Given the description of an element on the screen output the (x, y) to click on. 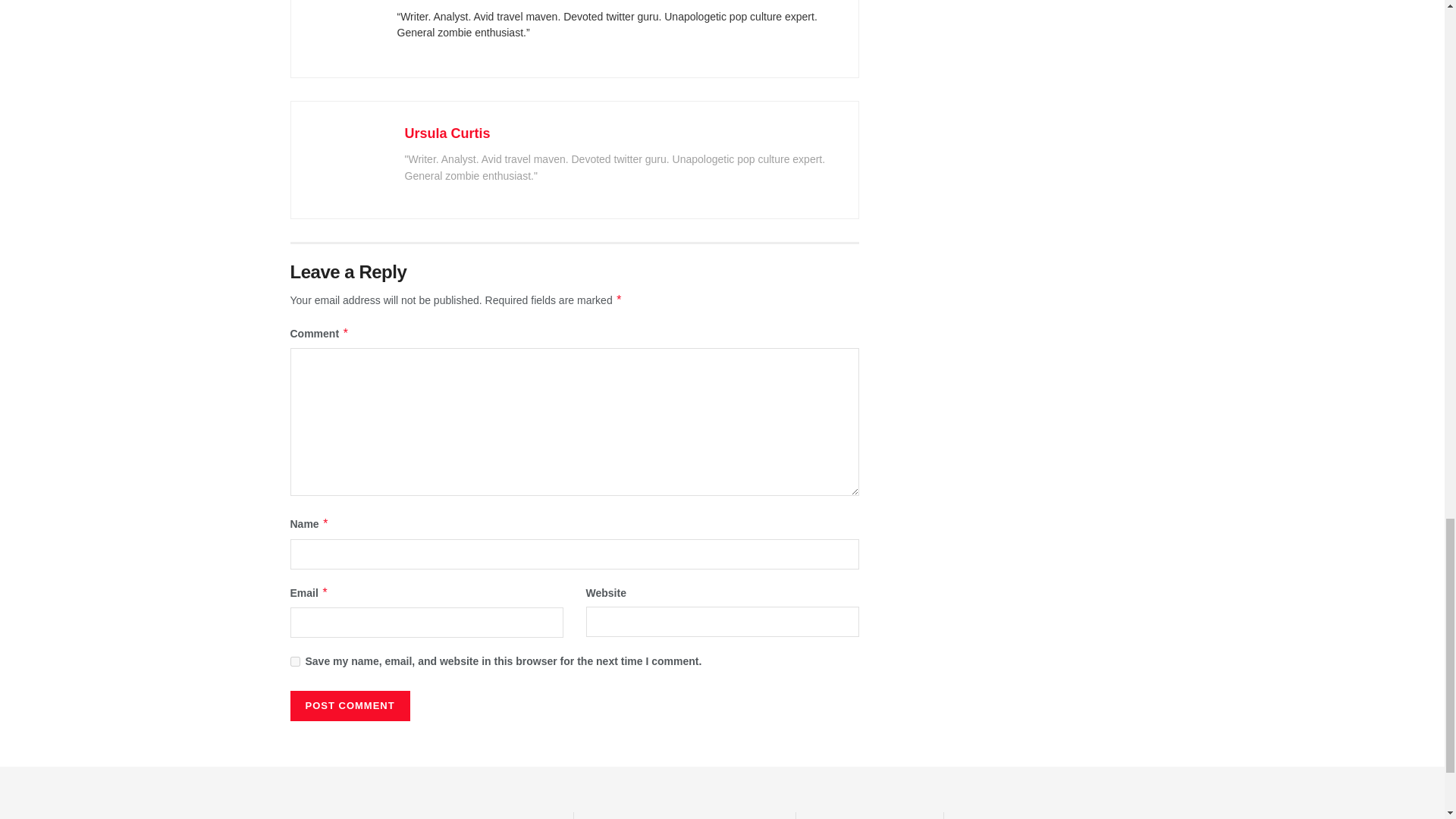
yes (294, 661)
Post Comment (349, 706)
